Given the description of an element on the screen output the (x, y) to click on. 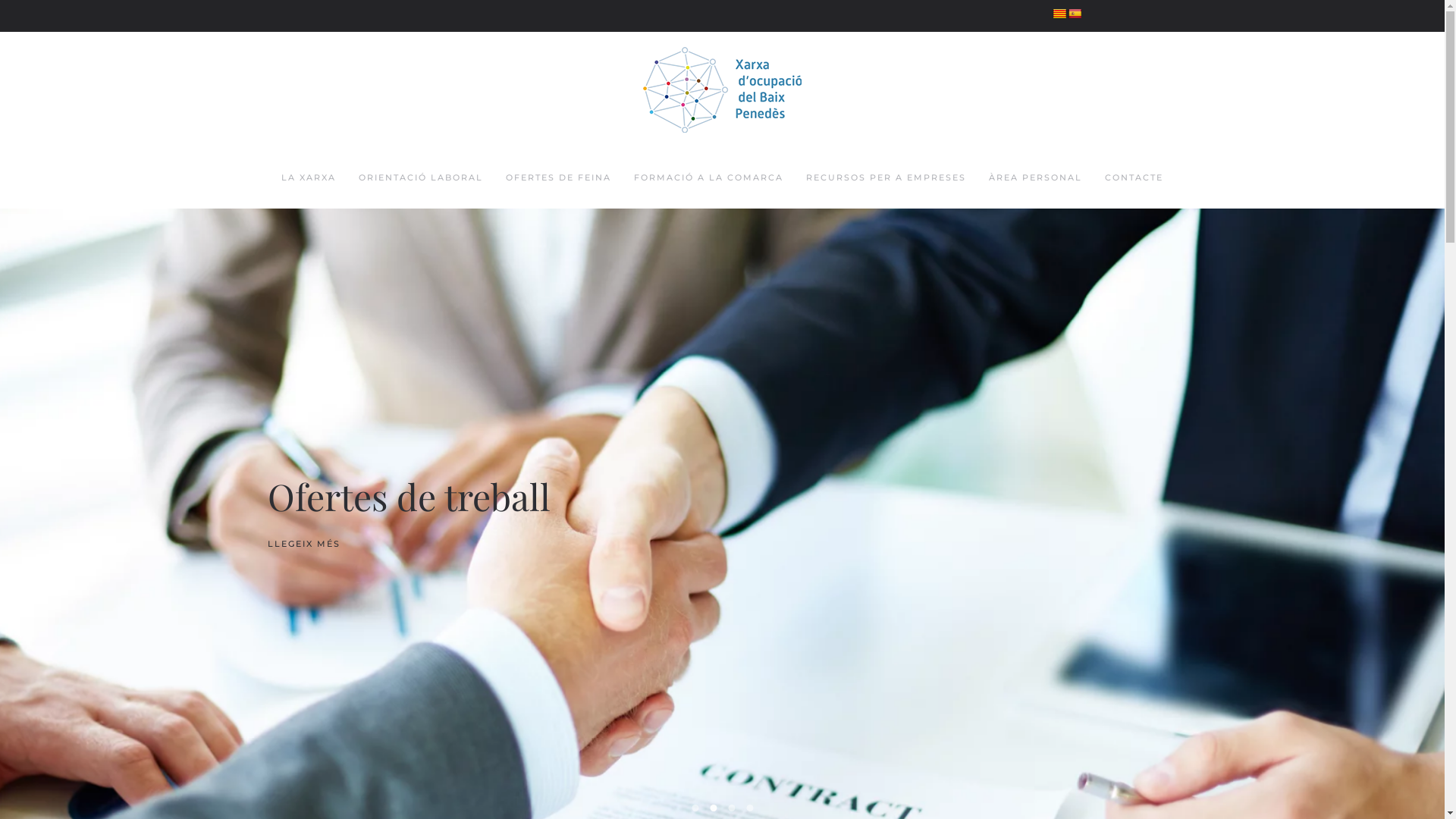
Spanish Element type: hover (1074, 13)
Catalan Element type: hover (1059, 13)
LA XARXA Element type: text (308, 177)
RECURSOS PER A EMPRESES Element type: text (886, 177)
CONTACTE Element type: text (1133, 177)
OFERTES DE FEINA Element type: text (558, 177)
Recursos per a empreses Element type: text (731, 807)
Ofertes de treball Element type: text (712, 807)
